Given the description of an element on the screen output the (x, y) to click on. 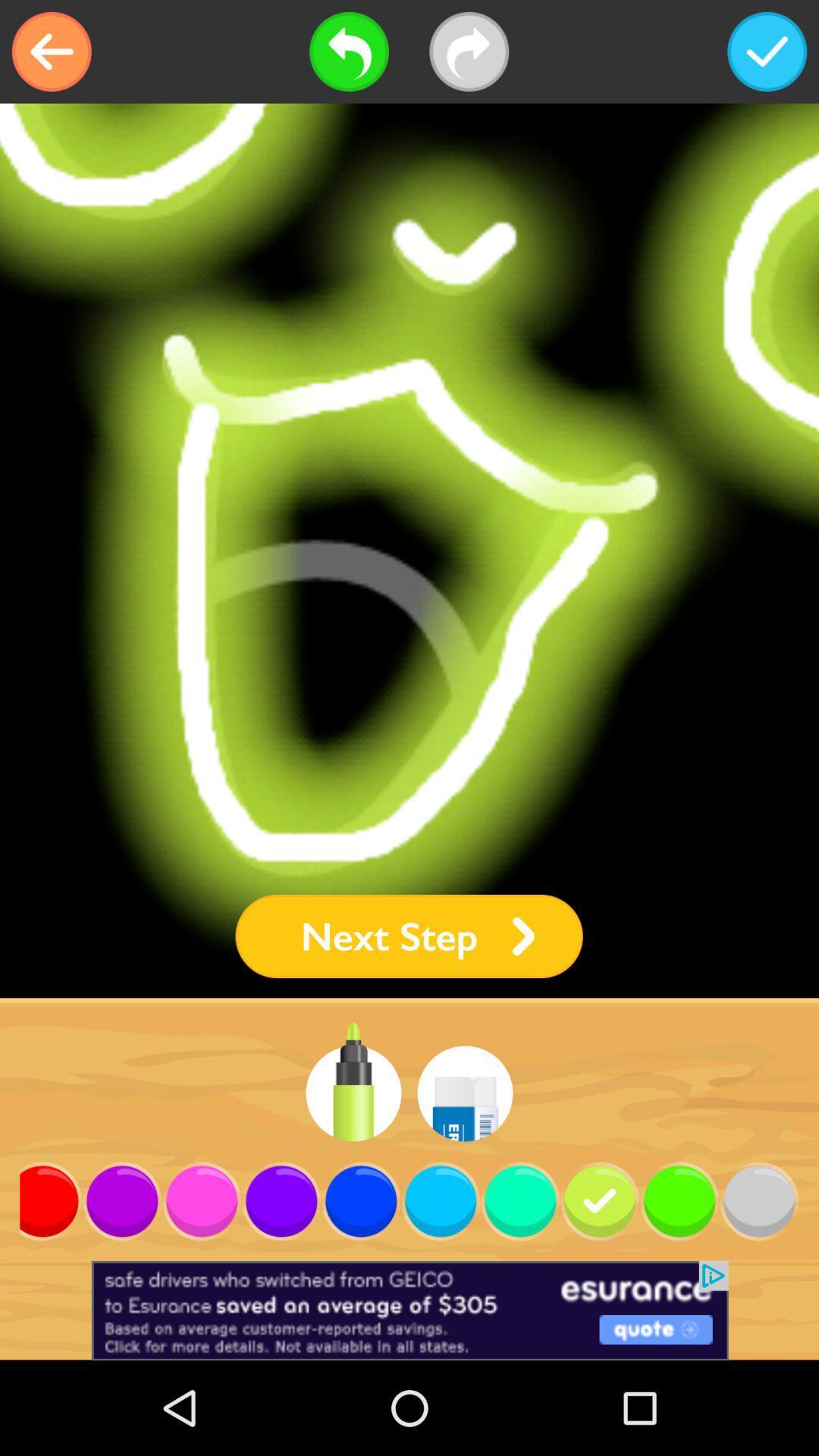
flip to the next step (408, 936)
